Given the description of an element on the screen output the (x, y) to click on. 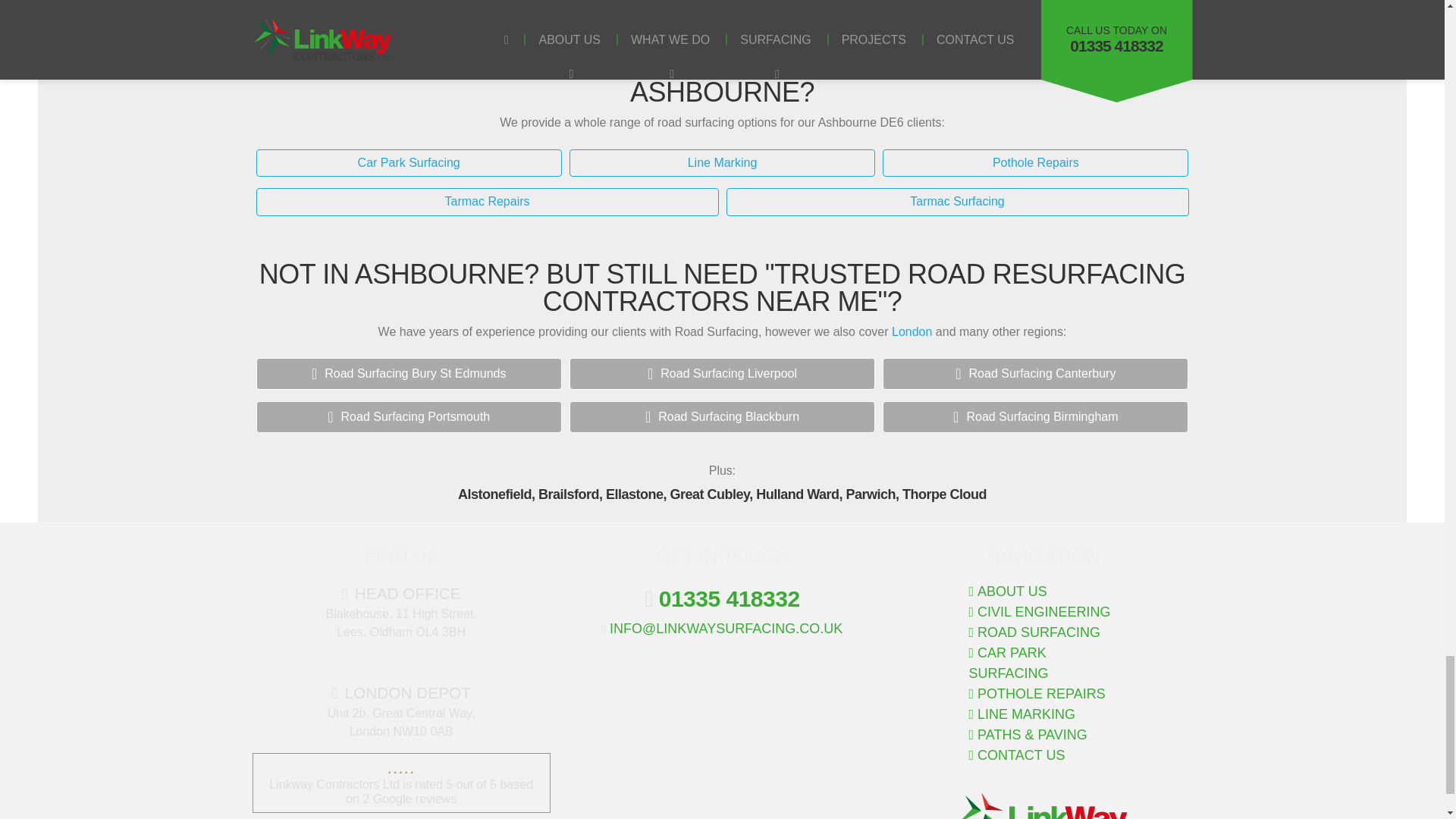
Car Park Surfacing (409, 163)
Line Marking (722, 163)
